Given the description of an element on the screen output the (x, y) to click on. 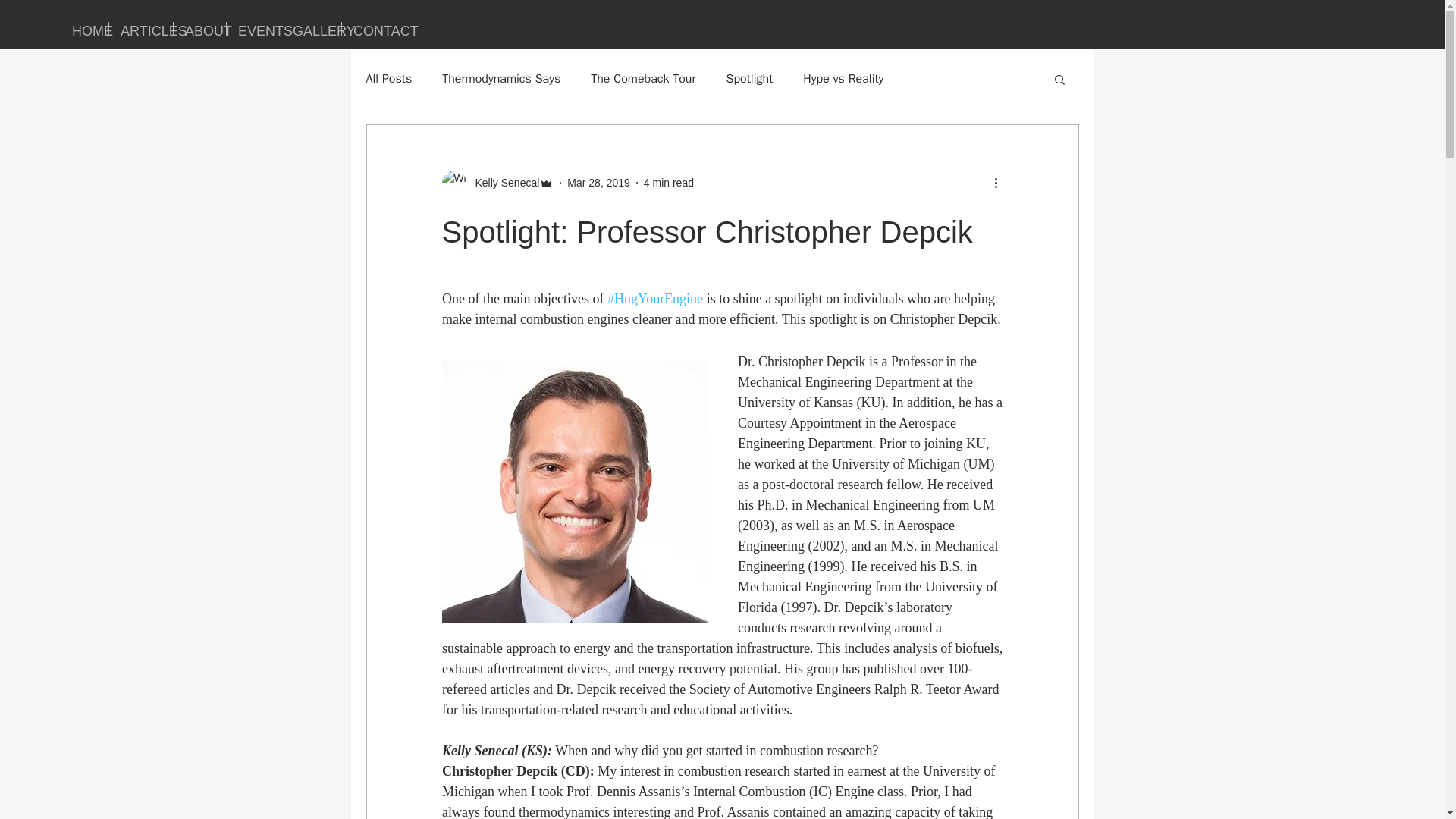
The Comeback Tour (643, 78)
Spotlight (749, 78)
4 min read (668, 182)
Hype vs Reality (843, 78)
GALLERY (310, 29)
Kelly Senecal (501, 182)
ARTICLES (141, 29)
All Posts (388, 78)
Thermodynamics Says (501, 78)
Mar 28, 2019 (598, 182)
